Given the description of an element on the screen output the (x, y) to click on. 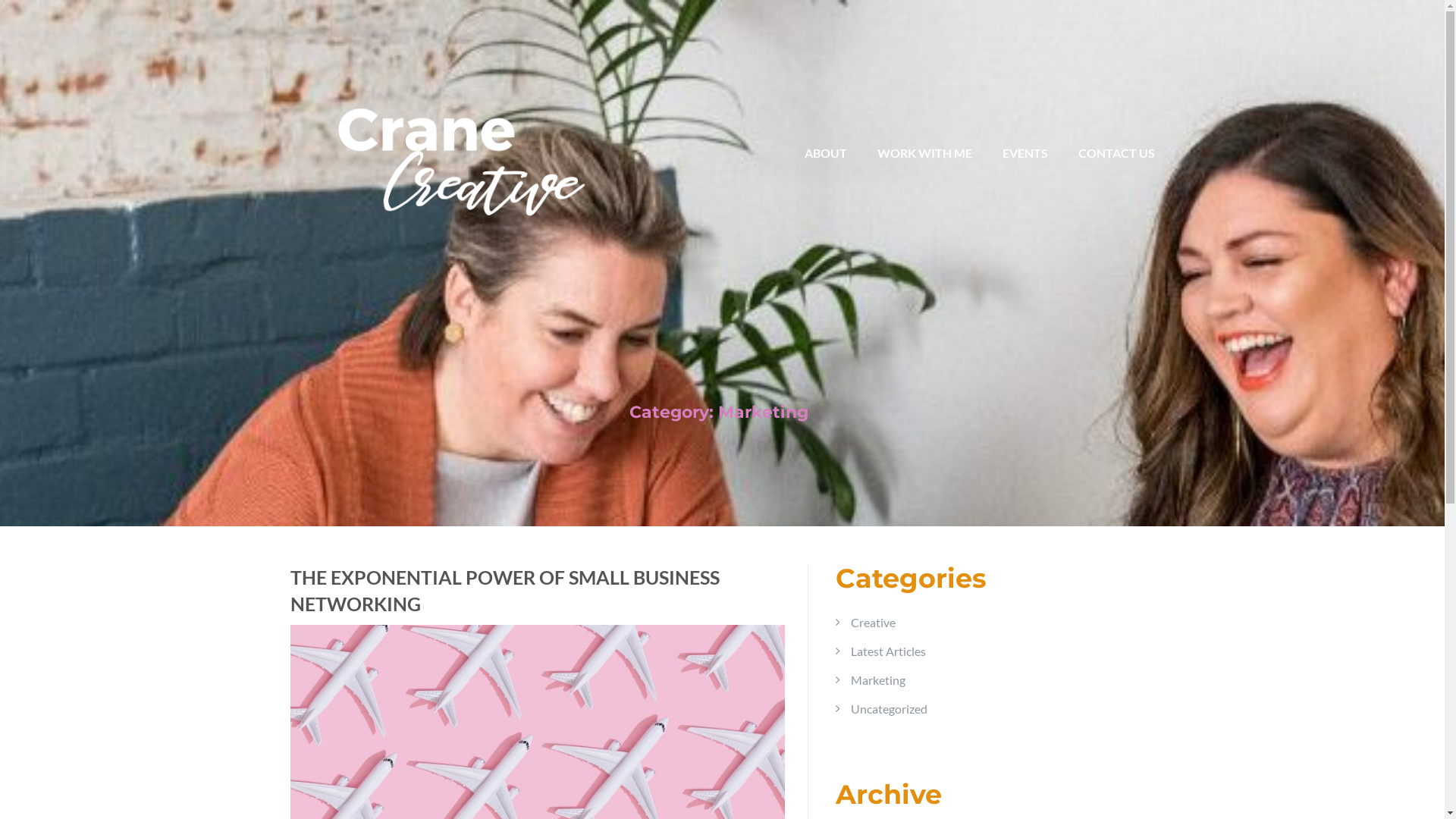
WORK WITH ME Element type: text (923, 152)
THE EXPONENTIAL POWER OF SMALL BUSINESS NETWORKING Element type: text (536, 590)
EVENTS Element type: text (1025, 152)
Marketing Element type: text (877, 679)
Uncategorized Element type: text (888, 708)
Creative Element type: text (872, 622)
Crane Creative Element type: hover (478, 144)
ABOUT Element type: text (824, 152)
Latest Articles Element type: text (887, 650)
CONTACT US Element type: text (1116, 152)
